Given the description of an element on the screen output the (x, y) to click on. 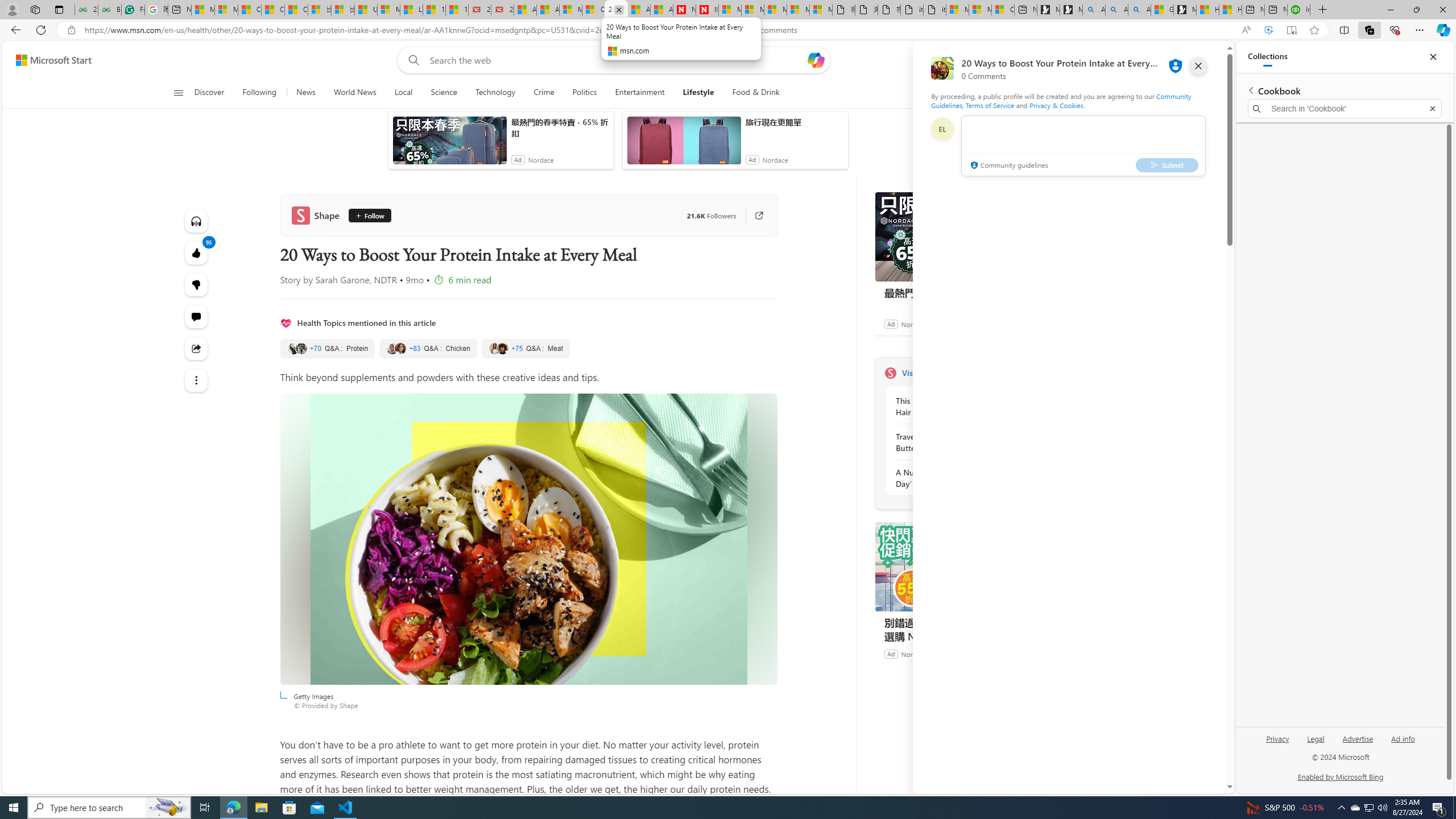
Microsoft Services Agreement (752, 9)
Ad (890, 653)
World News (355, 92)
anim-content (683, 144)
Local (403, 92)
Cloud Computing Services | Microsoft Azure (593, 9)
Microsoft Start Gaming (1185, 9)
Nordace (914, 653)
To get missing image descriptions, open the context menu. (995, 92)
Class: quote-thumbnail (502, 348)
